Given the description of an element on the screen output the (x, y) to click on. 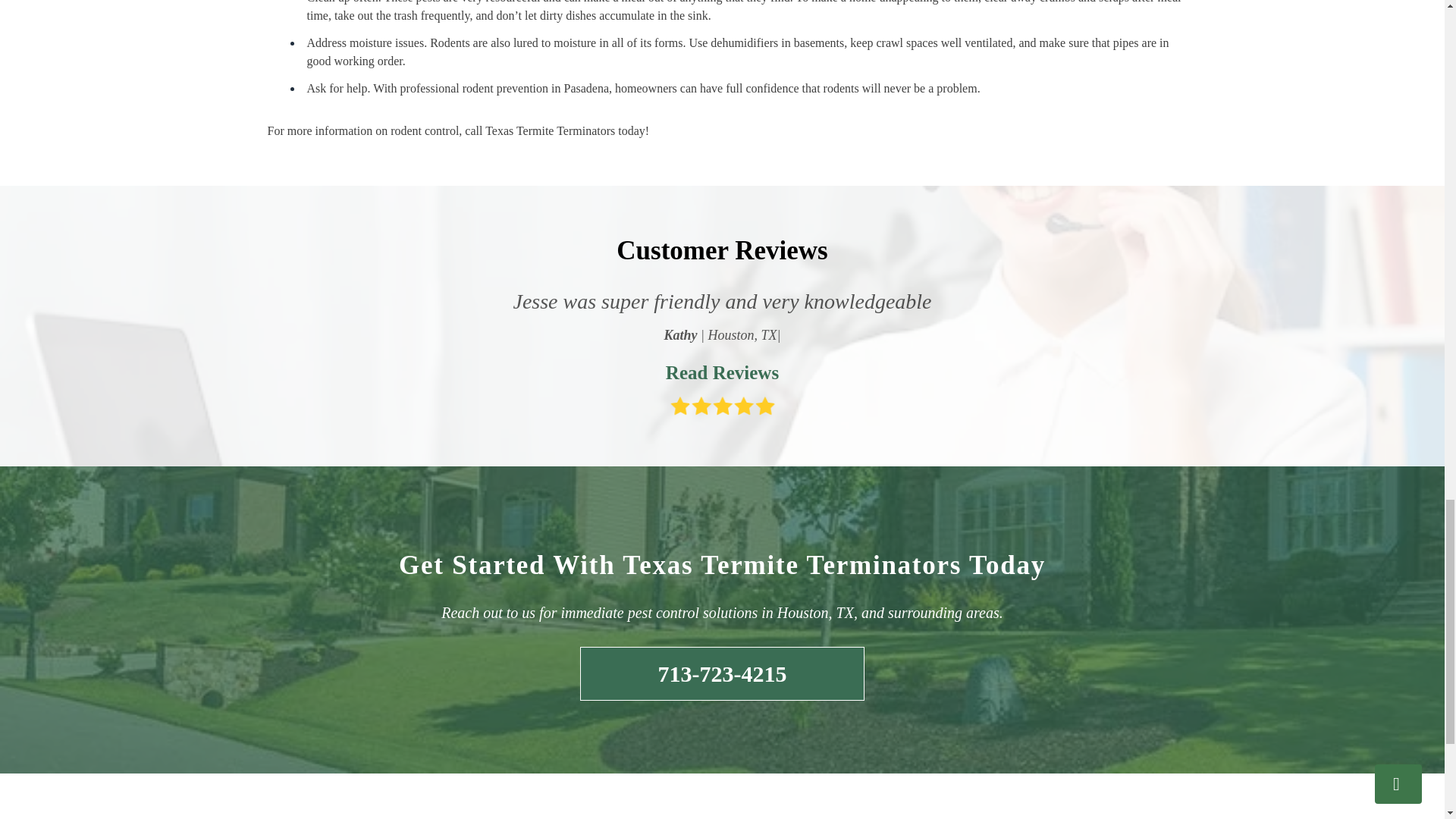
713-723-4215 (721, 674)
Read Reviews (721, 372)
